Given the description of an element on the screen output the (x, y) to click on. 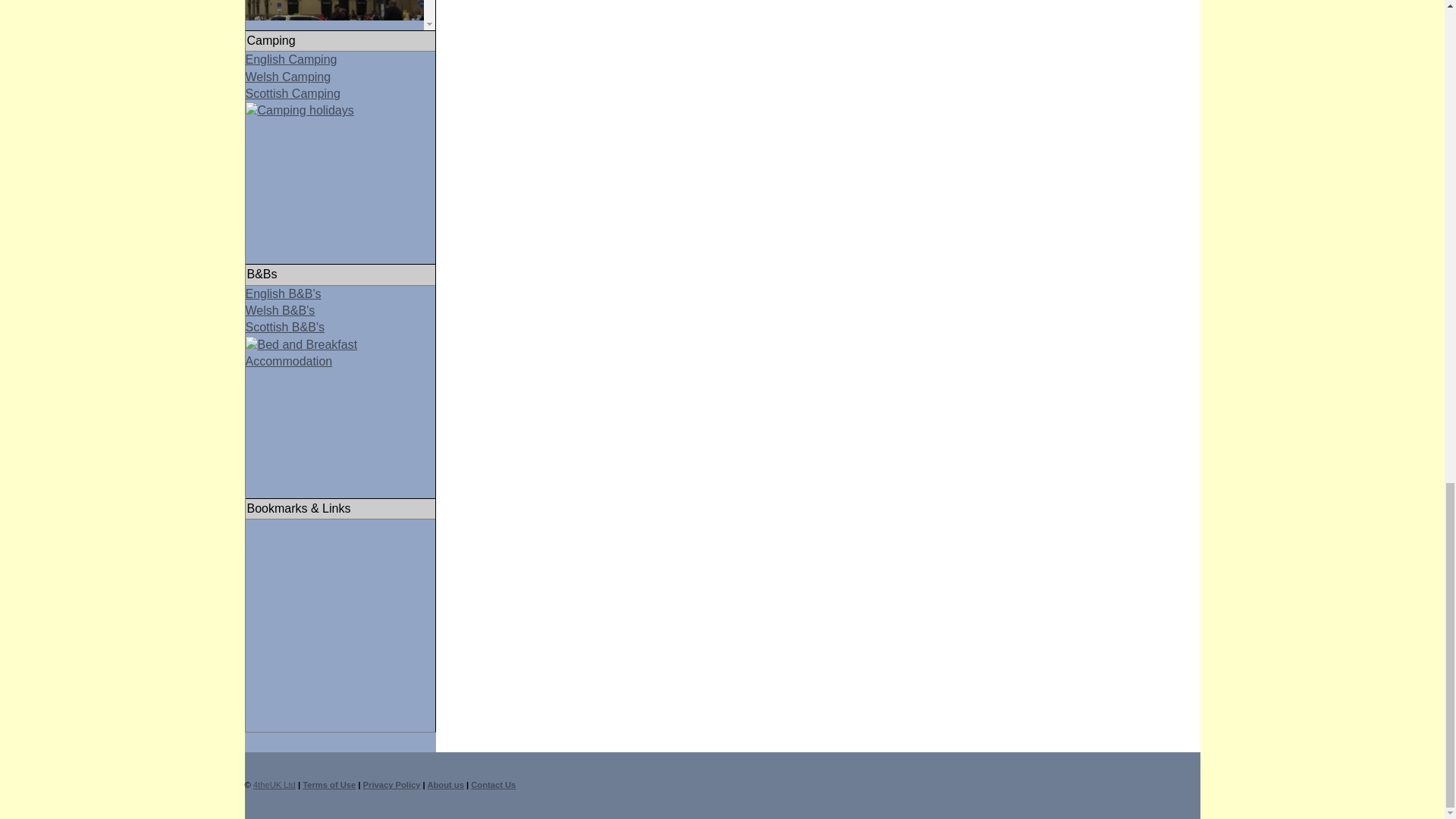
English Camping (291, 59)
Welsh Camping (288, 76)
Scottish Camping (340, 108)
Scottish Bed and Breakfasts (340, 344)
English Bed and Breakfasts (283, 293)
Irish Hotels (334, 11)
Welsh Bed and Breakfasts (280, 309)
